Given the description of an element on the screen output the (x, y) to click on. 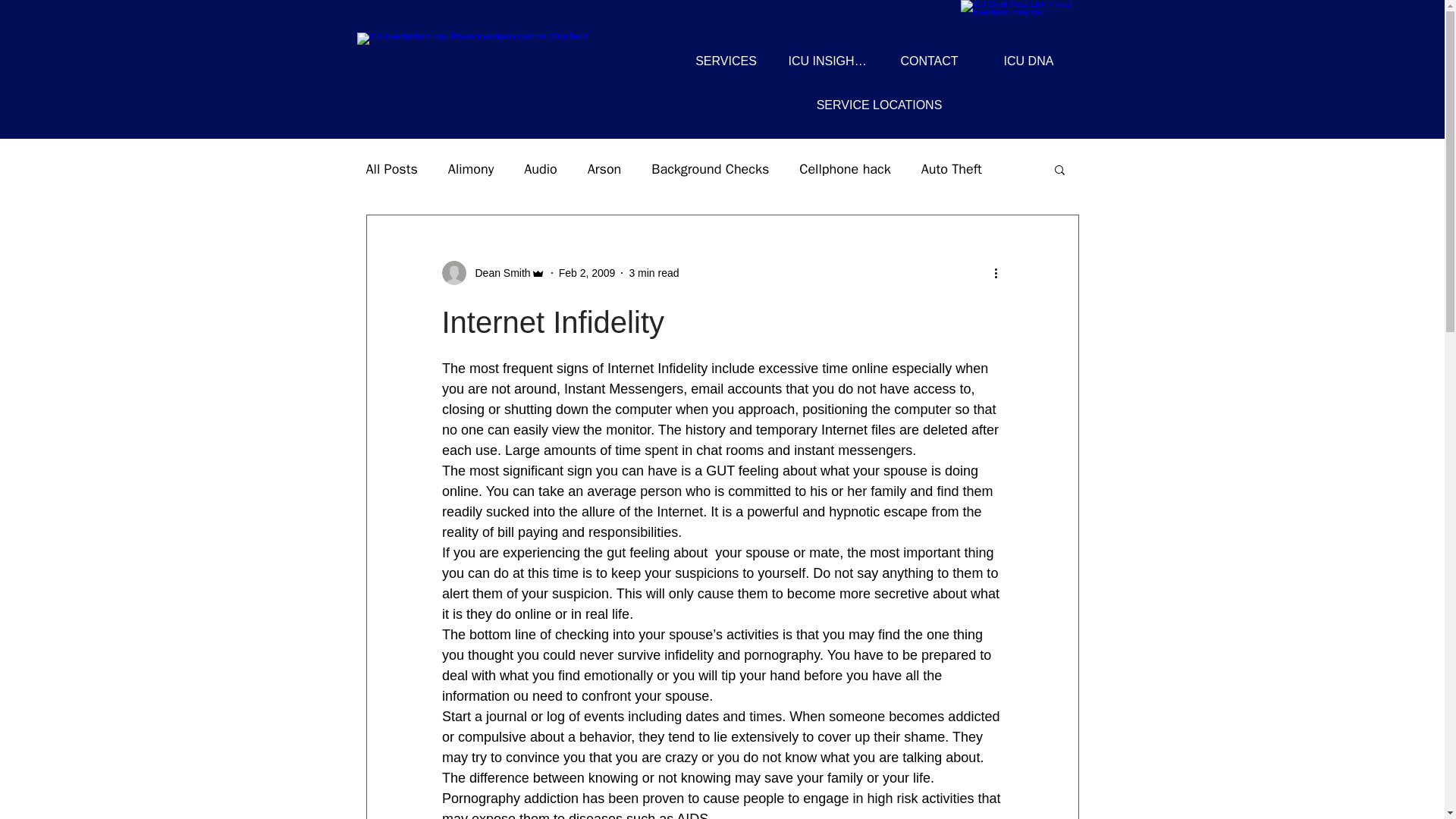
Background Checks (709, 168)
ICU DNA (1027, 60)
SERVICES (726, 60)
Audio (540, 168)
All Posts (390, 168)
Feb 2, 2009 (587, 272)
SERVICE LOCATIONS (879, 105)
Auto Theft (951, 168)
Alimony (470, 168)
Dean Smith (497, 273)
ICU INSIGHTS (827, 60)
Arson (604, 168)
CONTACT (929, 60)
Client Login (1026, 16)
Cellphone hack (844, 168)
